Given the description of an element on the screen output the (x, y) to click on. 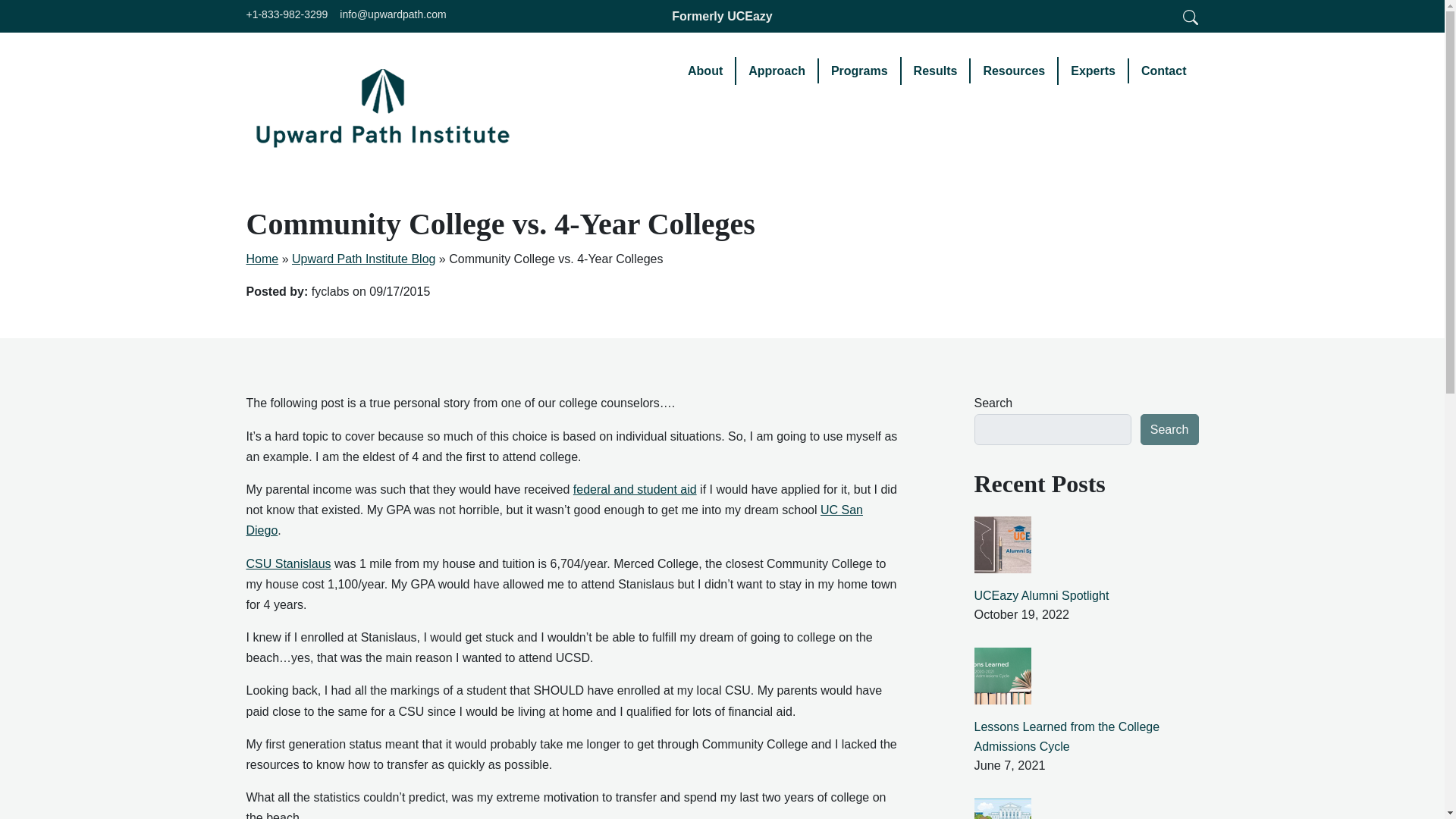
About (705, 70)
Experts (1093, 70)
Results (936, 70)
Call Upward Path Institute (286, 14)
Approach (777, 70)
Email Upward Path Institute (392, 14)
Resources (1014, 70)
Programs (859, 70)
Contact (1163, 70)
